Given the description of an element on the screen output the (x, y) to click on. 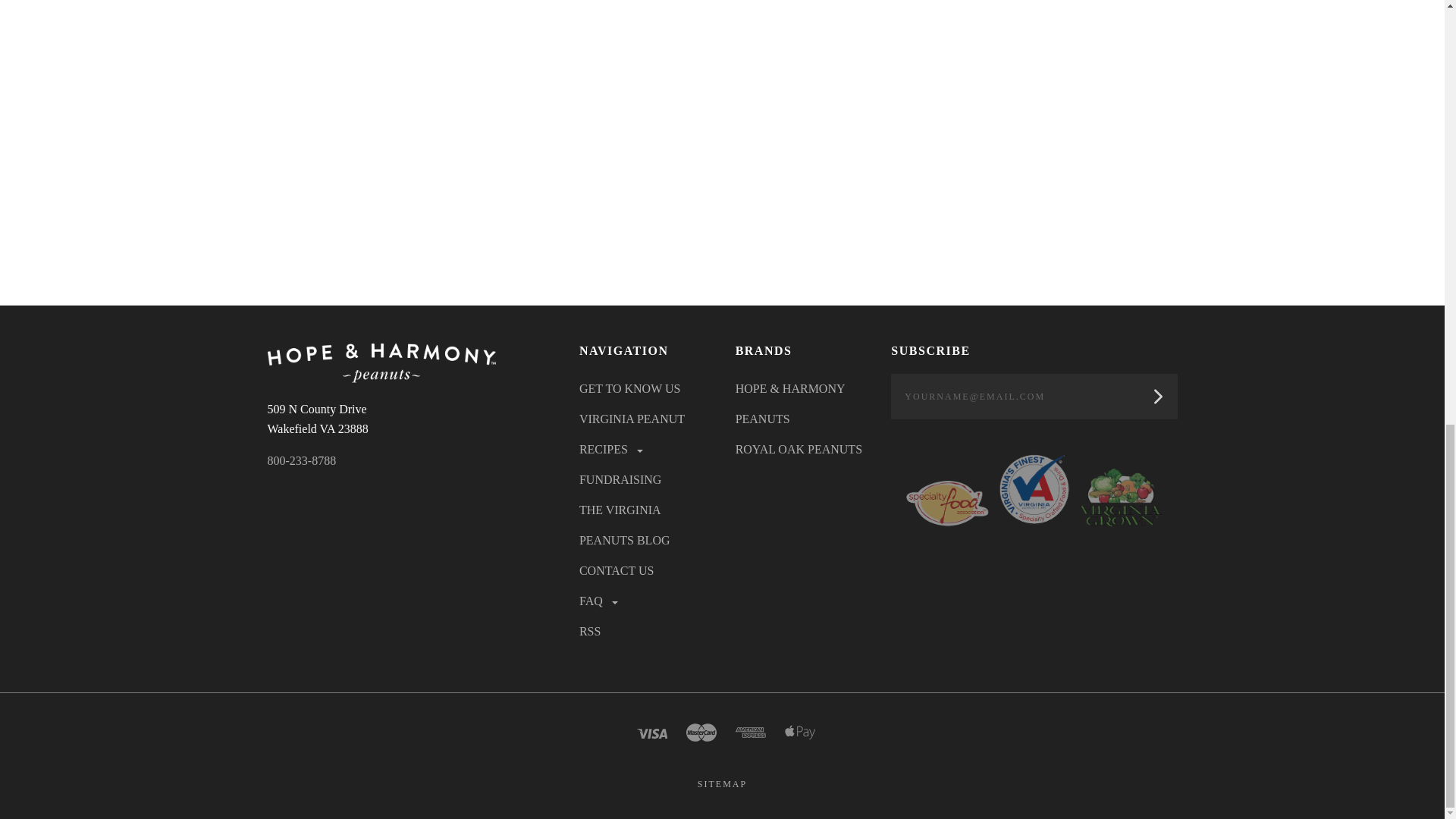
APPLE PAY (799, 732)
